Given the description of an element on the screen output the (x, y) to click on. 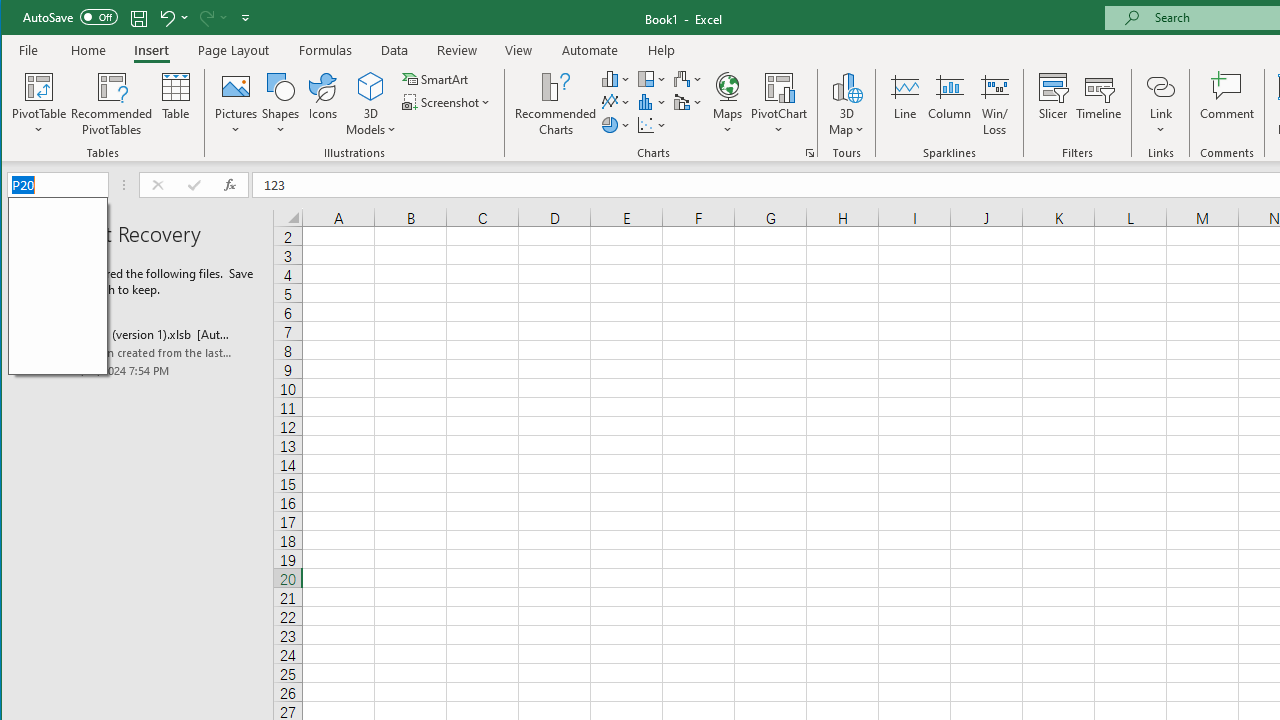
PivotChart (779, 104)
Recommended PivotTables (111, 104)
Link (1160, 104)
Line (904, 104)
SmartArt... (436, 78)
Win/Loss (995, 104)
PivotChart (779, 86)
Insert Hierarchy Chart (652, 78)
Table (175, 104)
Icons (323, 104)
3D Models (371, 86)
